Given the description of an element on the screen output the (x, y) to click on. 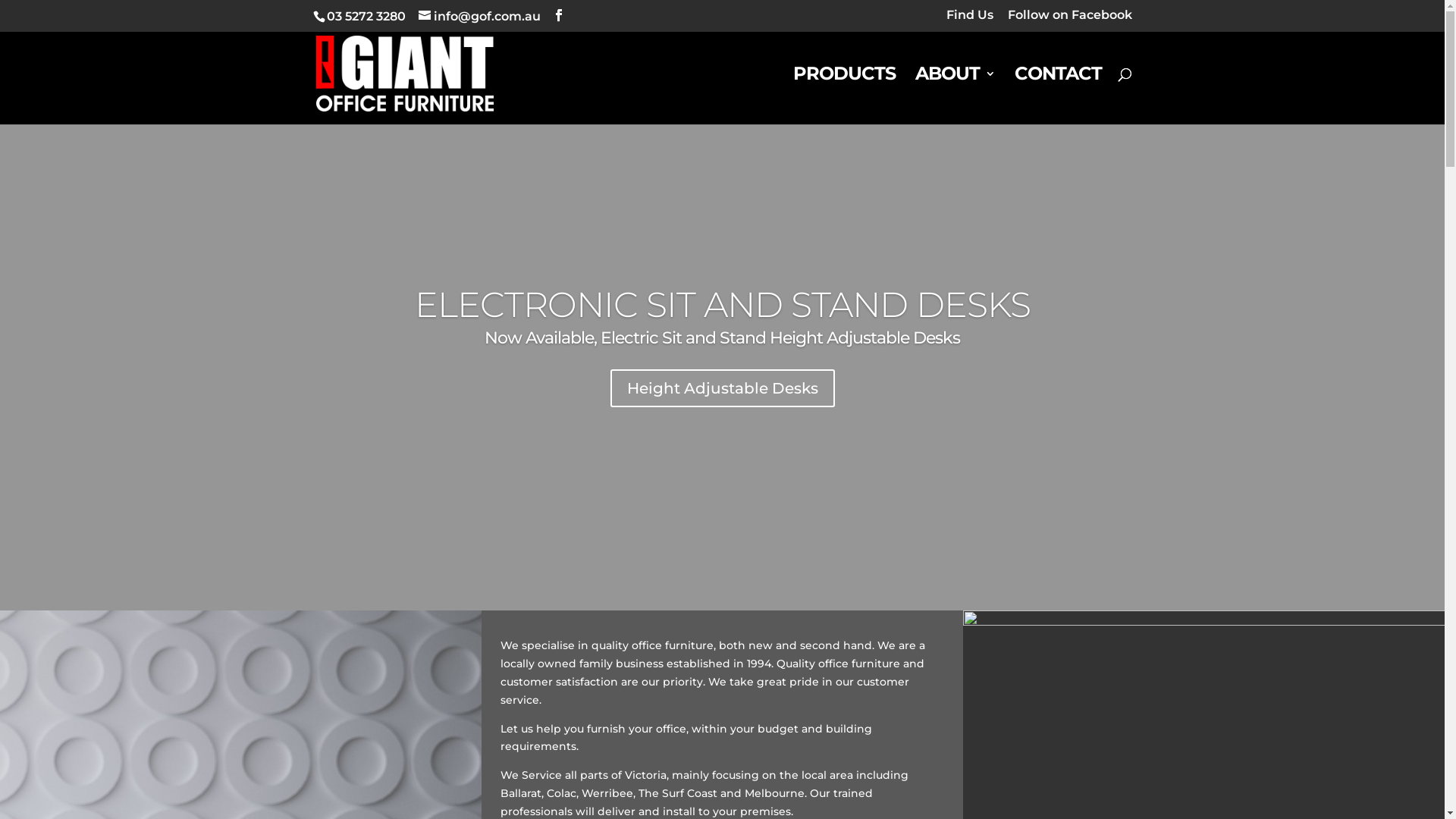
Follow on Facebook Element type: text (1069, 19)
Find Us Element type: text (969, 19)
ABOUT Element type: text (954, 96)
ELECTRONIC SIT AND STAND DESKS Element type: text (721, 304)
Height Adjustable Desks Element type: text (721, 388)
info@gof.com.au Element type: text (479, 16)
CONTACT Element type: text (1057, 96)
PRODUCTS Element type: text (844, 96)
